Given the description of an element on the screen output the (x, y) to click on. 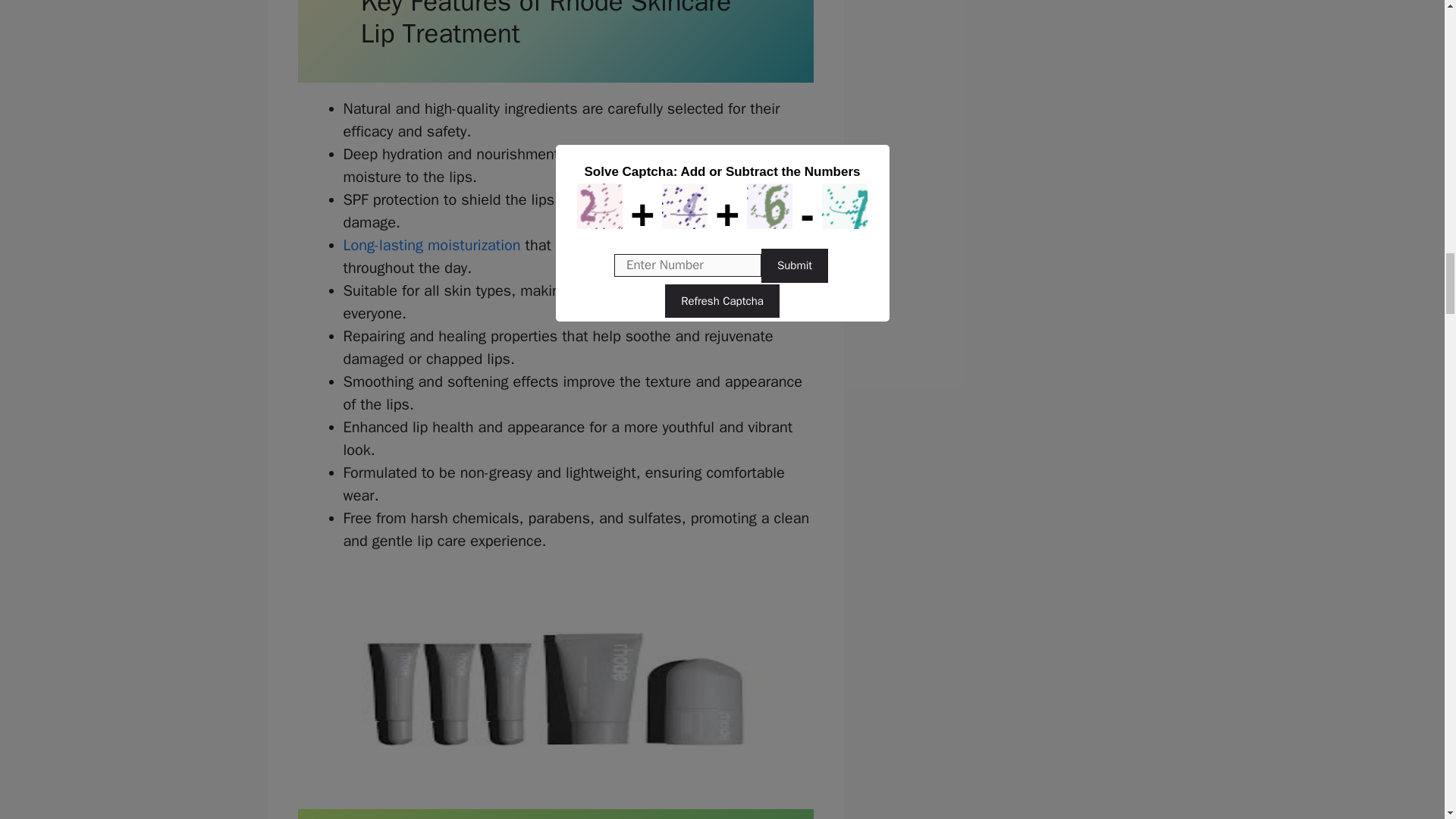
Long-lasting moisturization (430, 244)
